Given the description of an element on the screen output the (x, y) to click on. 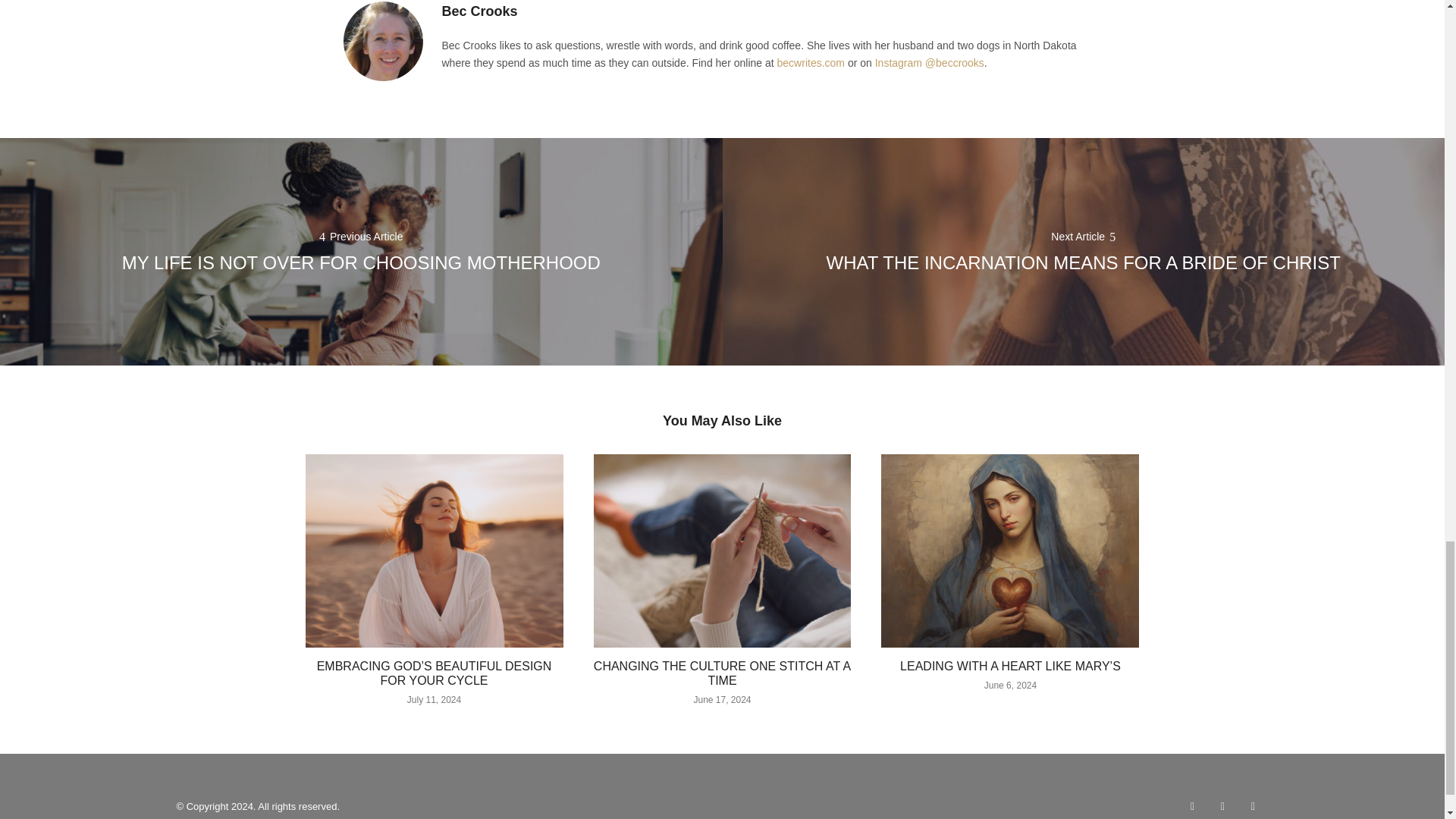
CHANGING THE CULTURE ONE STITCH AT A TIME (722, 673)
July 11, 2024 (434, 699)
June 6, 2024 (1010, 685)
Bec Crooks (478, 11)
June 17, 2024 (722, 699)
becwrites.com (810, 62)
